Given the description of an element on the screen output the (x, y) to click on. 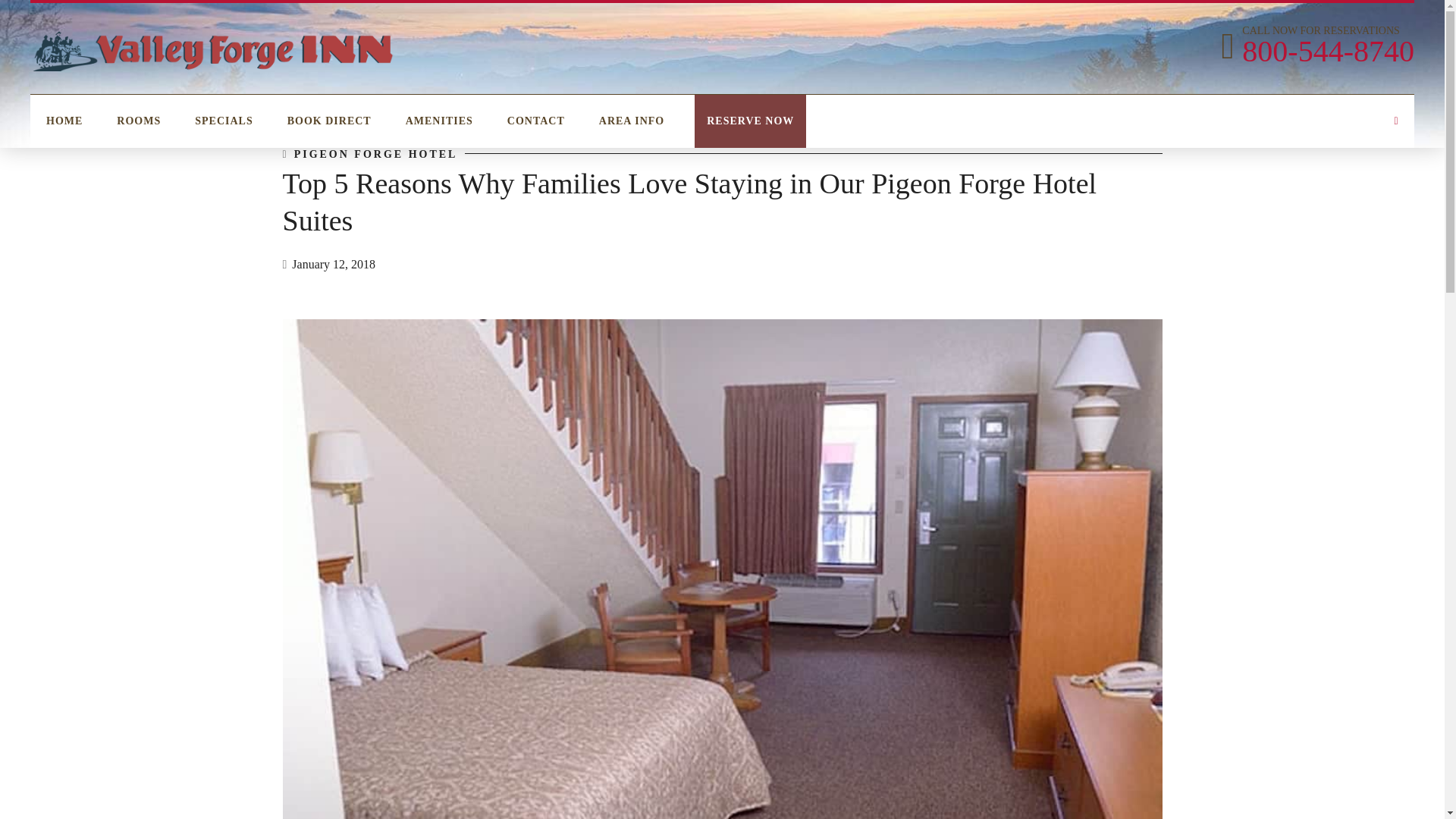
HOME (1315, 45)
PIGEON FORGE HOTEL (64, 121)
AREA INFO (376, 154)
ROOMS (630, 121)
CONTACT (138, 121)
AMENITIES (535, 121)
BOOK DIRECT (439, 121)
RESERVE NOW (328, 121)
SPECIALS (749, 121)
